Given the description of an element on the screen output the (x, y) to click on. 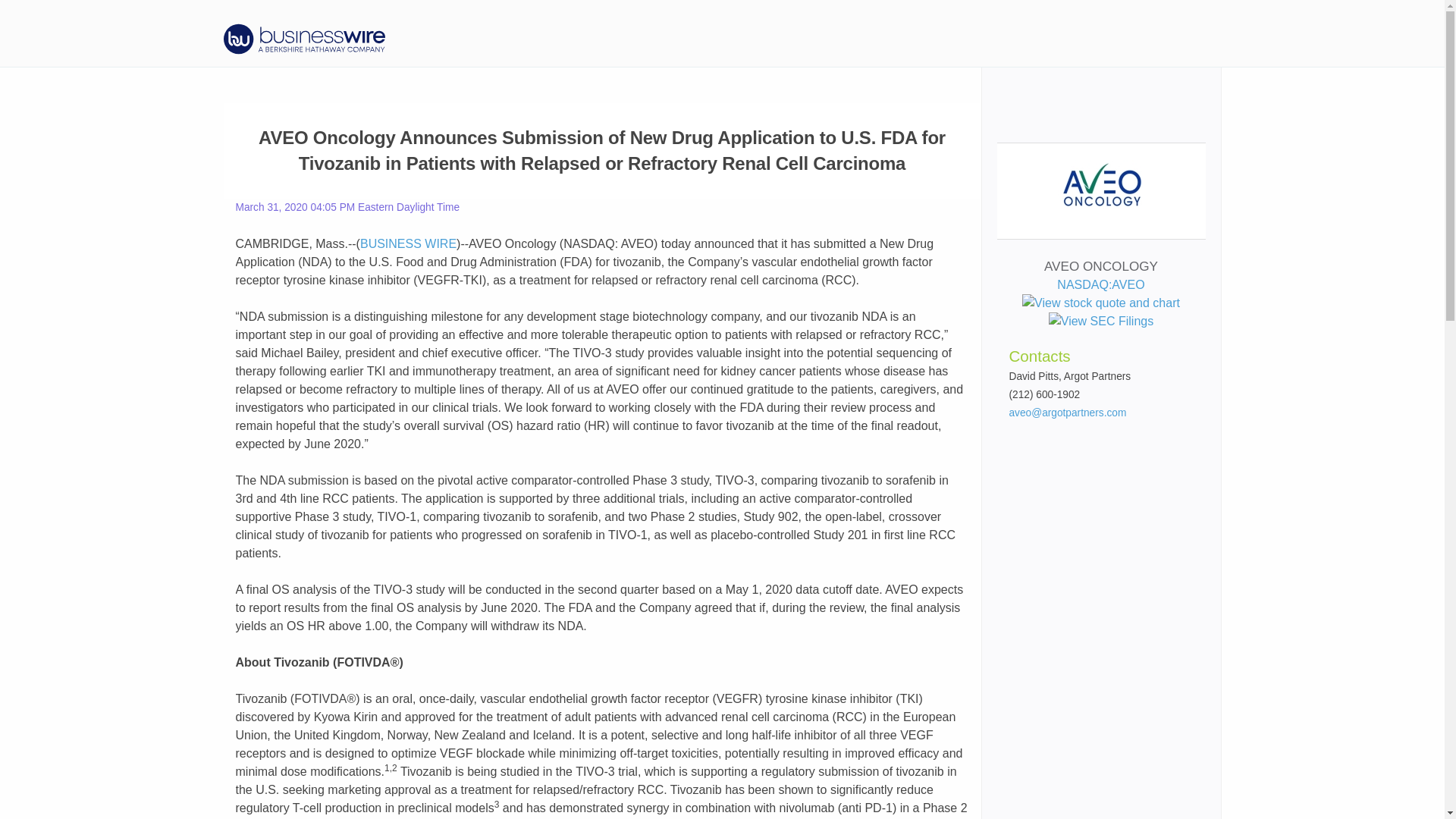
View stock quote and chart (1100, 303)
NASDAQ:AVEO (1100, 293)
View SEC Filings (1100, 321)
BUSINESS WIRE (408, 243)
